Given the description of an element on the screen output the (x, y) to click on. 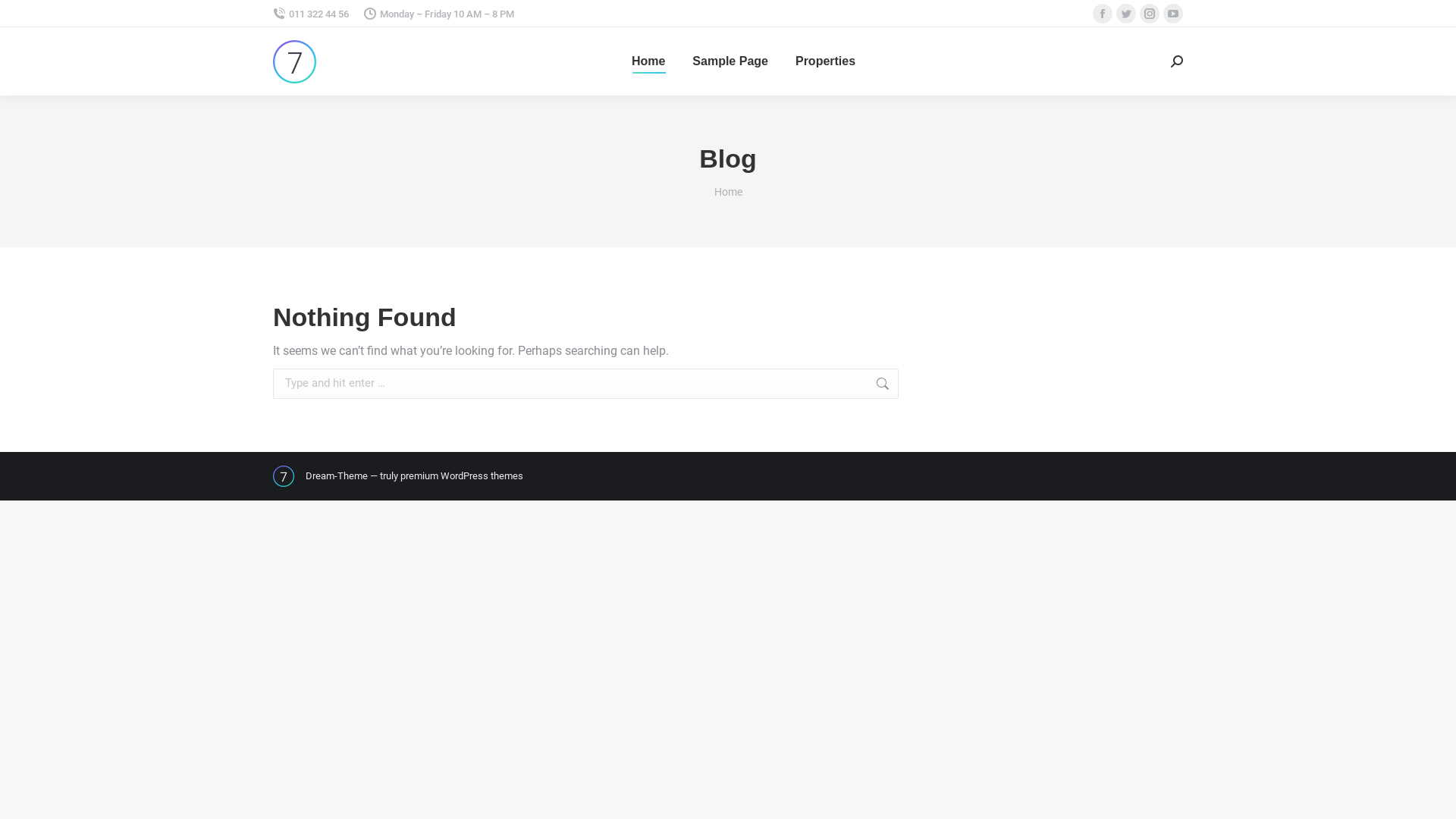
Home Element type: text (648, 60)
Sample Page Element type: text (730, 60)
Go! Element type: text (922, 384)
YouTube page opens in new window Element type: hover (1173, 13)
premium WordPress themes Element type: text (461, 475)
Twitter page opens in new window Element type: hover (1125, 13)
Home Element type: text (728, 191)
Instagram page opens in new window Element type: hover (1149, 13)
Facebook page opens in new window Element type: hover (1102, 13)
Go! Element type: text (24, 15)
Properties Element type: text (825, 60)
